Given the description of an element on the screen output the (x, y) to click on. 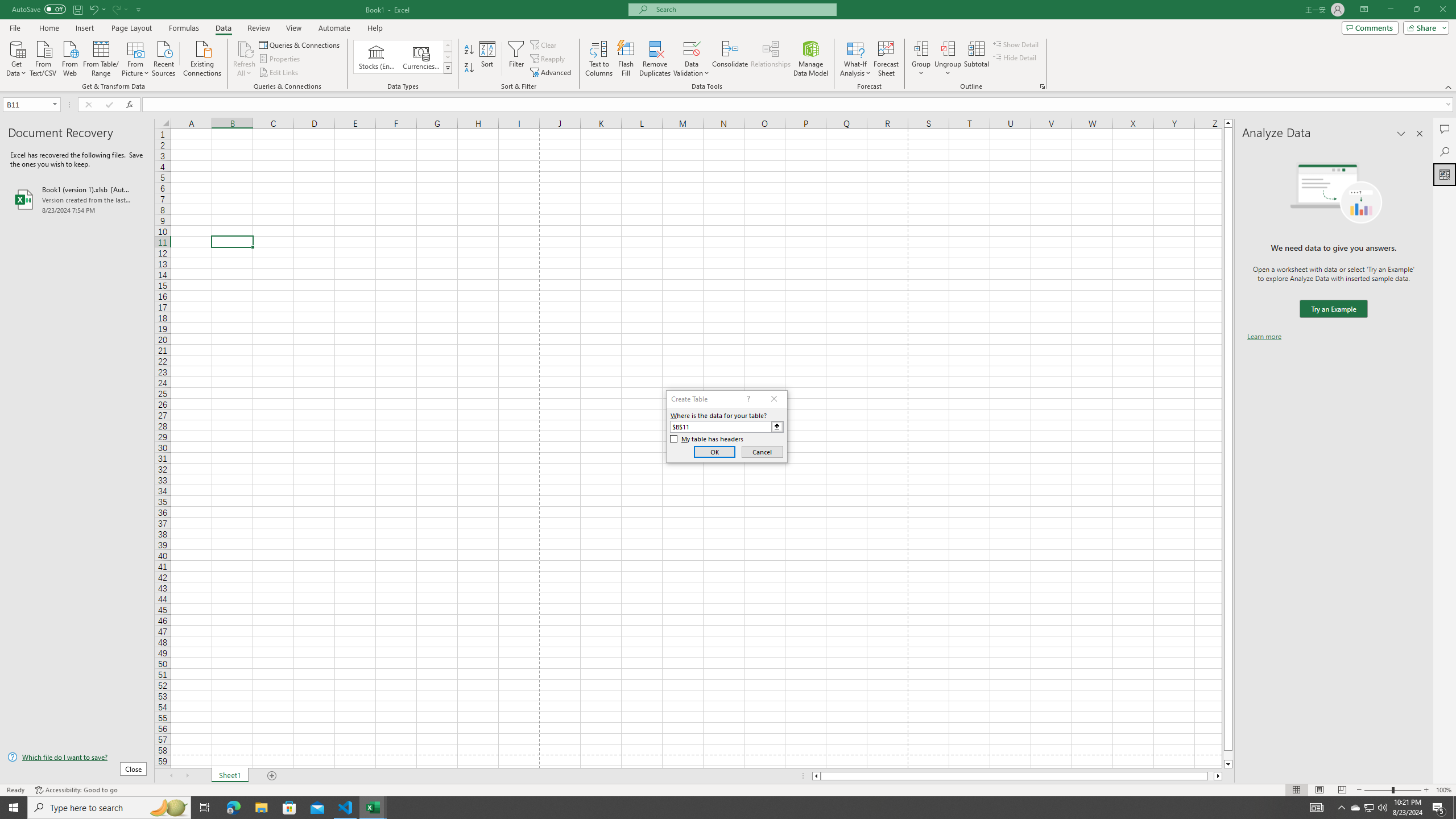
Relationships (770, 58)
We need data to give you answers. Try an Example (1333, 308)
